Given the description of an element on the screen output the (x, y) to click on. 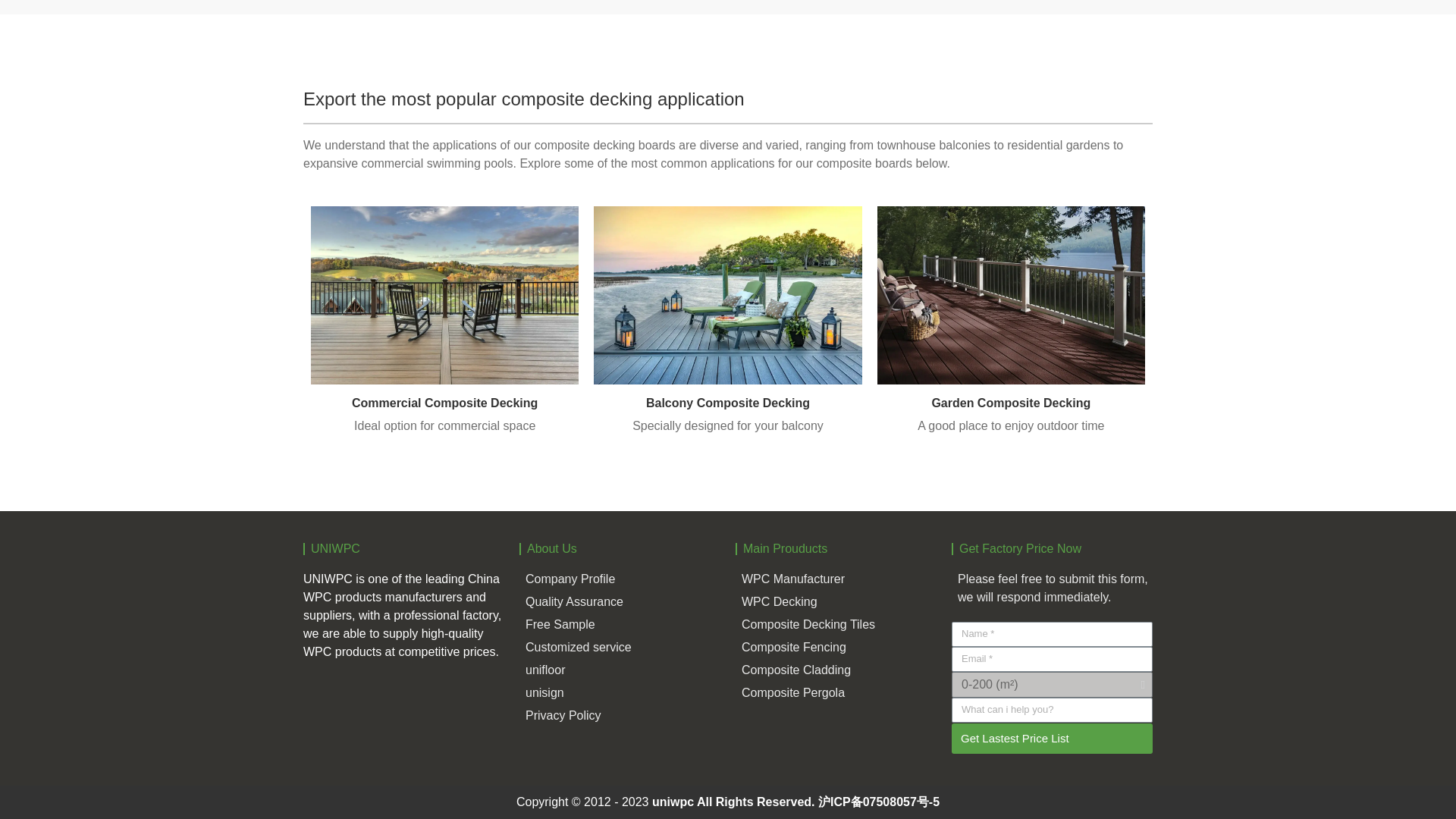
uniwpc (673, 801)
